Given the description of an element on the screen output the (x, y) to click on. 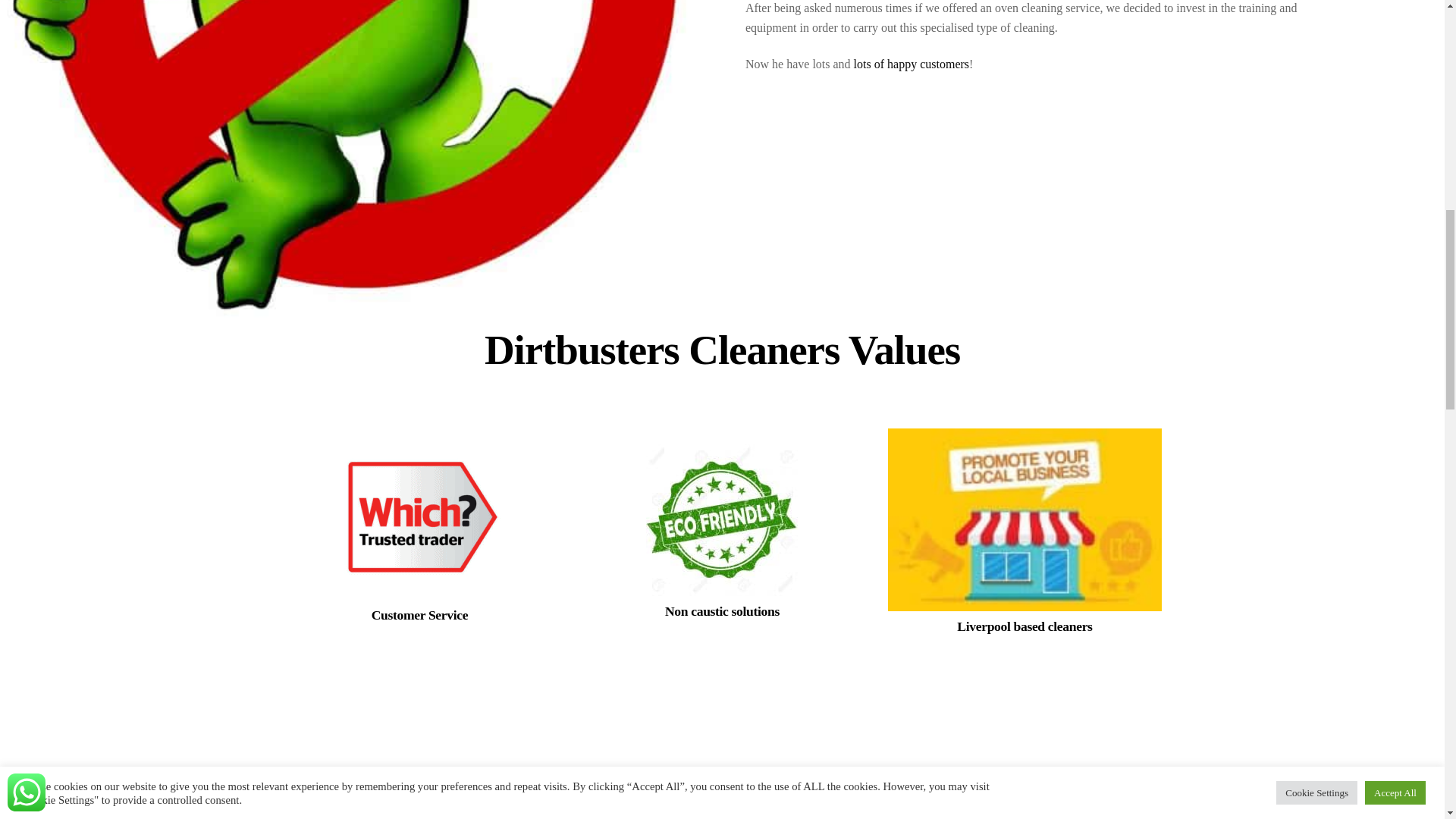
lots of happy customers (911, 63)
Non caustic solutions (721, 520)
Liverpool based cleaners (1024, 519)
Customer Service (418, 519)
